Given the description of an element on the screen output the (x, y) to click on. 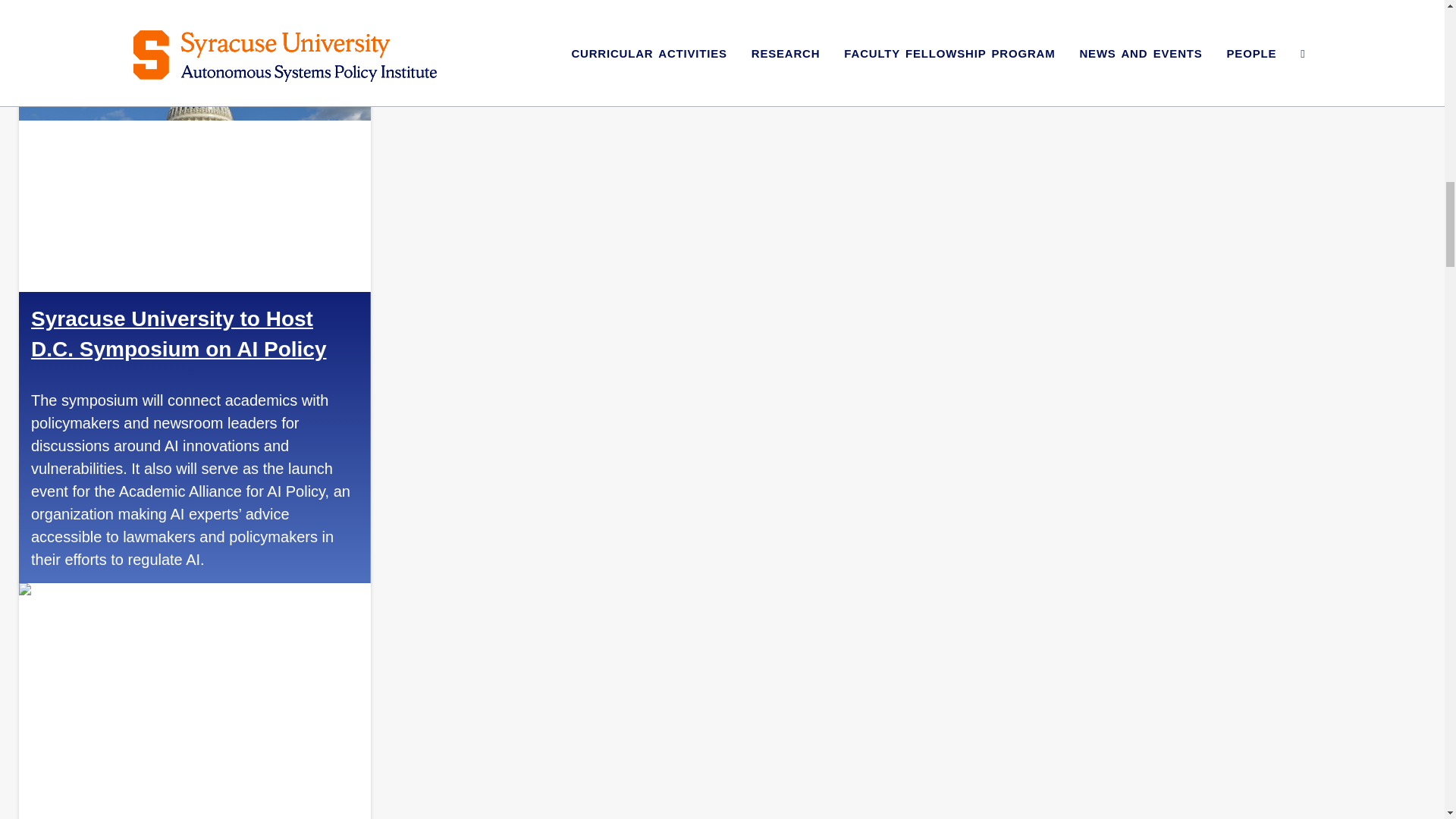
Syracuse University to Host D.C. Symposium on AI Policy (178, 334)
